Given the description of an element on the screen output the (x, y) to click on. 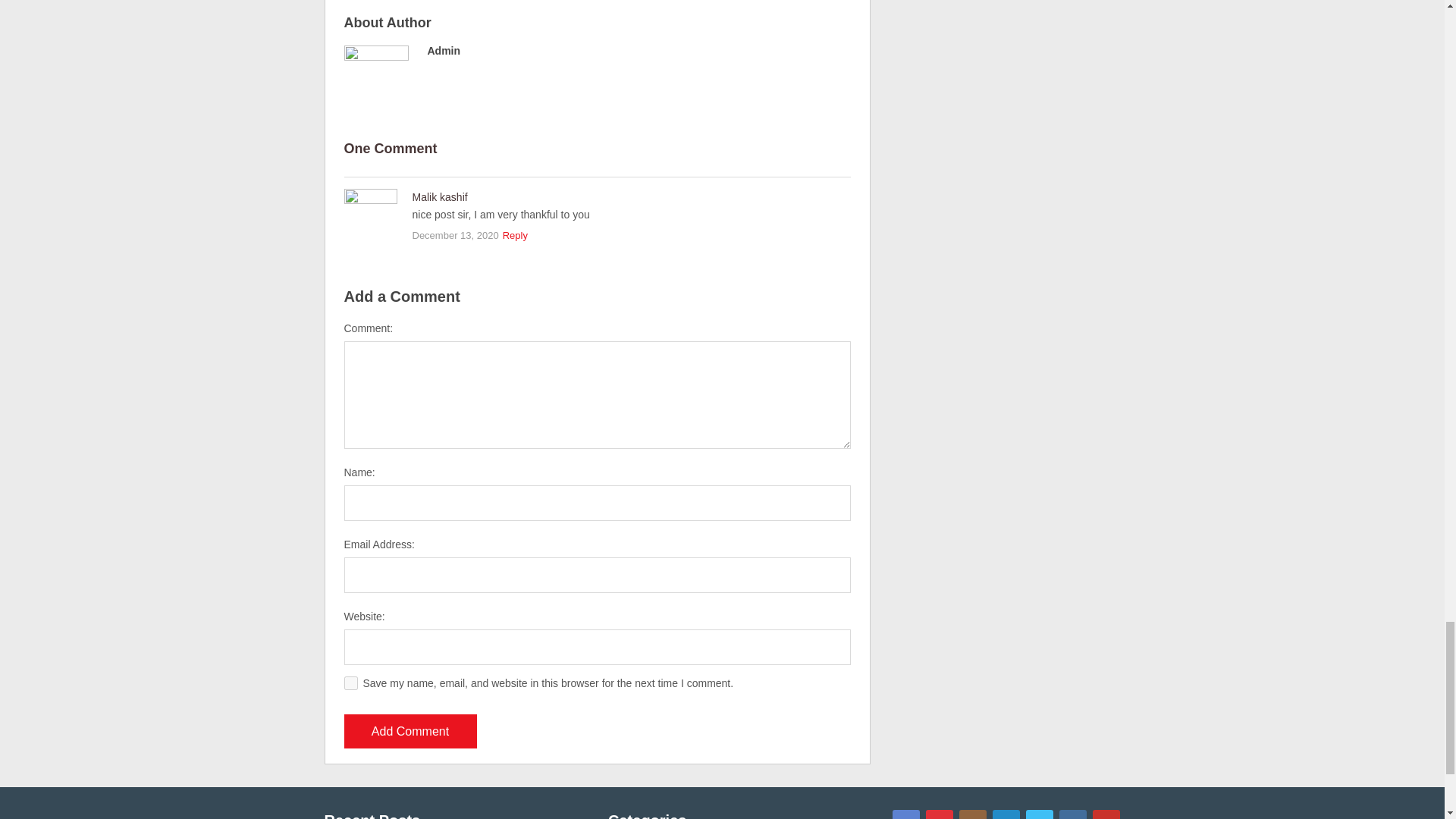
Pinterest (939, 814)
Instagram (973, 814)
Facebook (906, 814)
Add Comment (410, 731)
yes (350, 683)
